Given the description of an element on the screen output the (x, y) to click on. 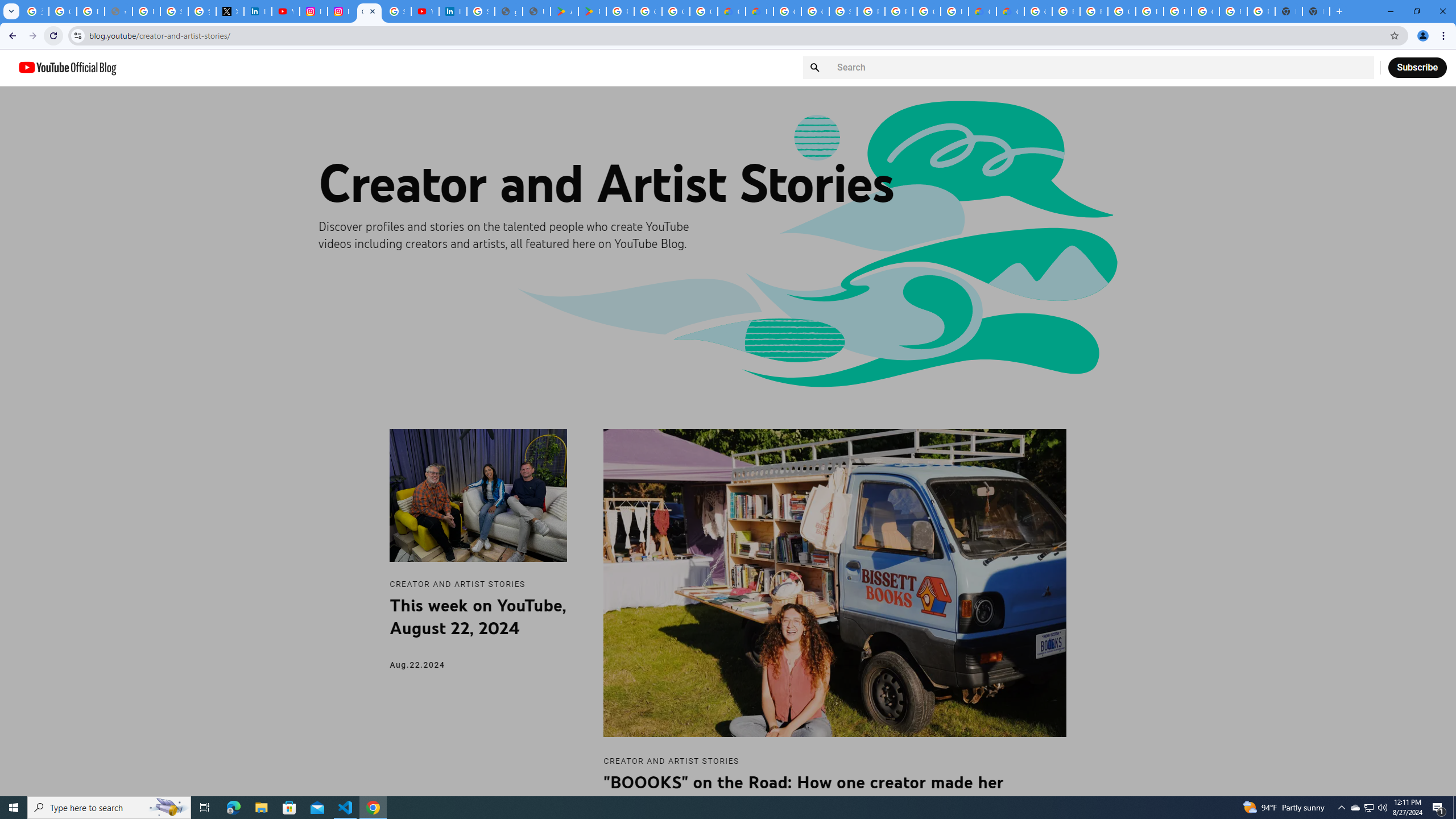
Close Search (1360, 67)
Google Cloud Platform (926, 11)
Subscribe (1417, 67)
YouTube Content Monetization Policies - How YouTube Works (285, 11)
PAW Patrol Rescue World - Apps on Google Play (592, 11)
LinkedIn Privacy Policy (257, 11)
Google Workspace - Specific Terms (703, 11)
Sign in - Google Accounts (842, 11)
